Given the description of an element on the screen output the (x, y) to click on. 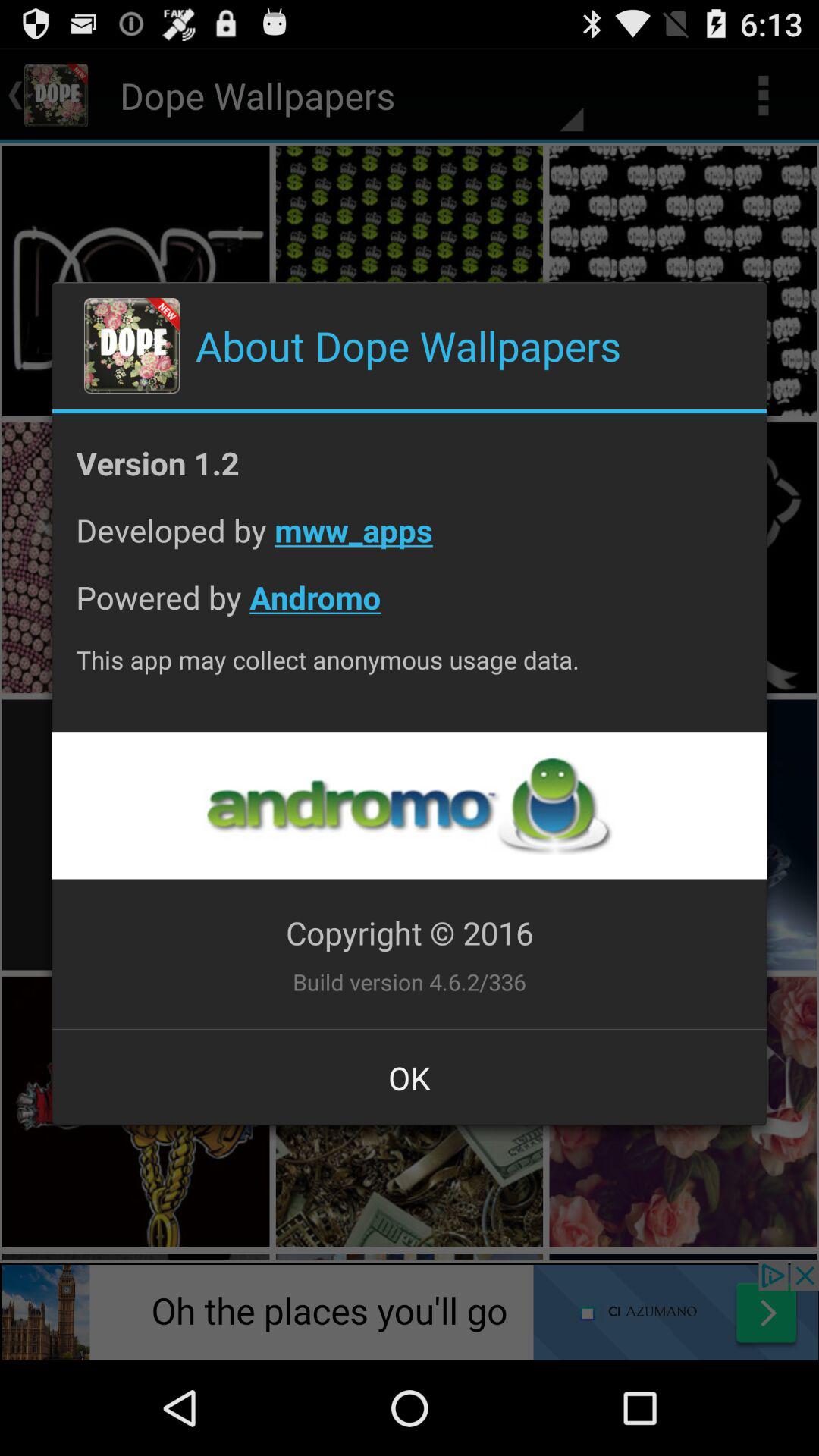
turn on the ok (409, 1077)
